Given the description of an element on the screen output the (x, y) to click on. 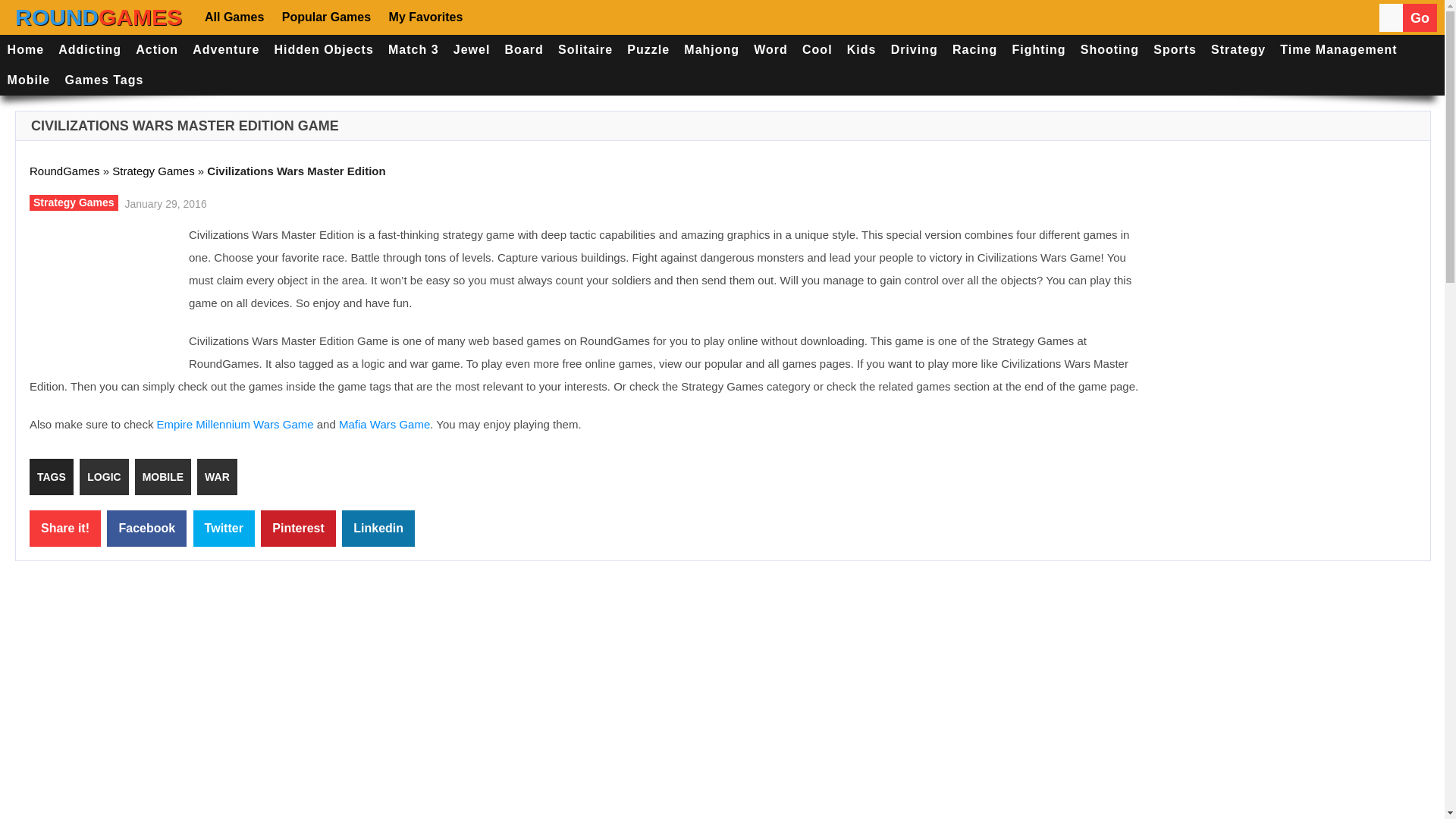
Home (25, 50)
Follow us on Twitter (536, 16)
Popular Games (324, 16)
Go (1420, 17)
Match 3 (412, 50)
Addicting (89, 50)
All Games (237, 16)
Our YouTube Channel (583, 16)
Follow us on Facebook (492, 16)
My Favorites (424, 16)
ROUNDGAMES (98, 17)
3:30 pm (163, 202)
Hidden Objects (323, 50)
Action (157, 50)
Play Free Online Games No Downloads at RoundGames (98, 17)
